Given the description of an element on the screen output the (x, y) to click on. 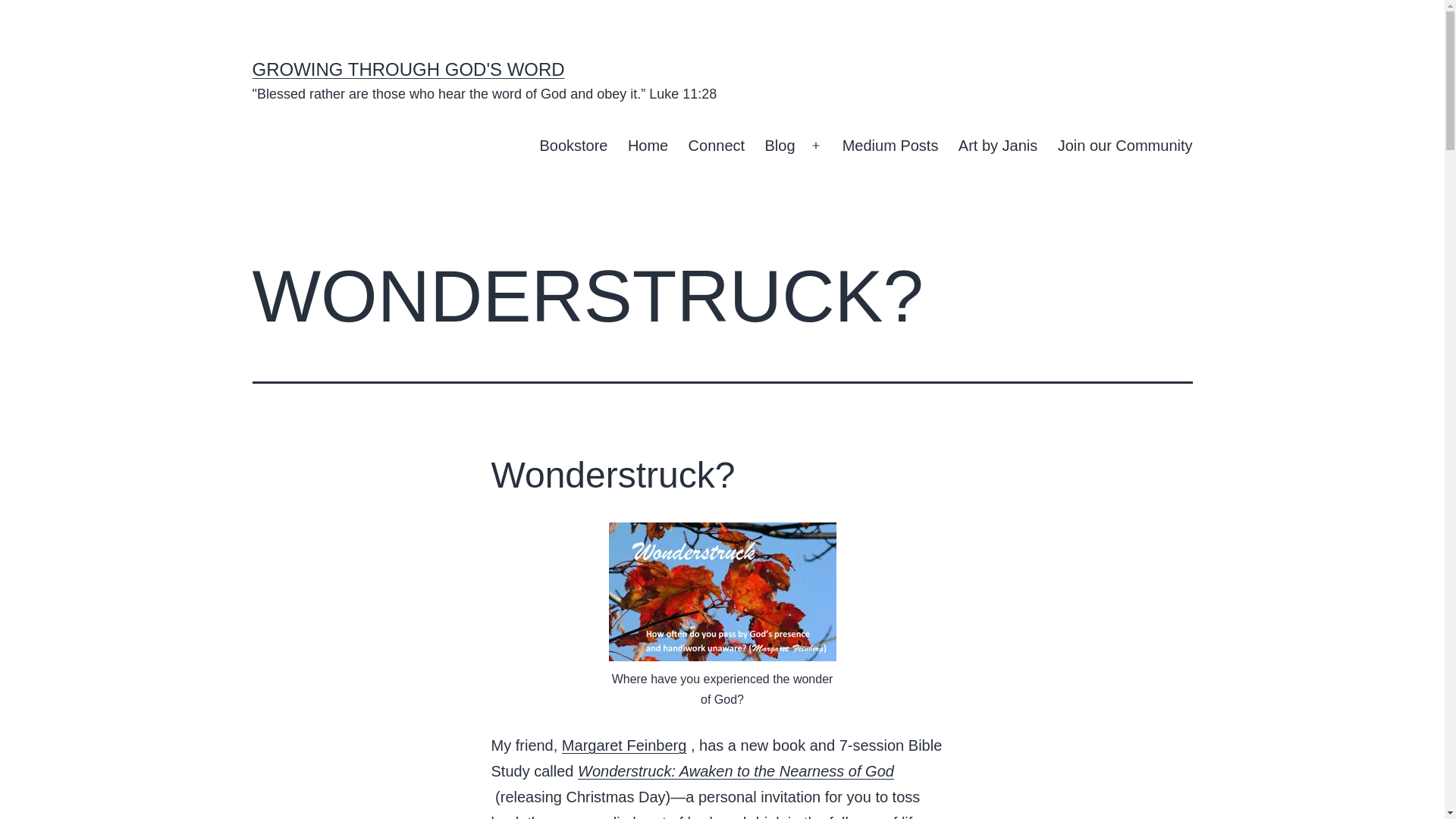
Wonderstruck-1-Janis-Cox (721, 591)
Margaret Feinberg - Wonderstruck (735, 770)
Join our Community (1124, 145)
Home (647, 145)
Connect (716, 145)
Margaret Feinberg (624, 745)
Margaret Feinberg (624, 745)
GROWING THROUGH GOD'S WORD (407, 68)
Bookstore (573, 145)
Blog (779, 145)
Art by Janis (998, 145)
Medium Posts (890, 145)
Wonderstruck: Awaken to the Nearness of God (735, 770)
